Given the description of an element on the screen output the (x, y) to click on. 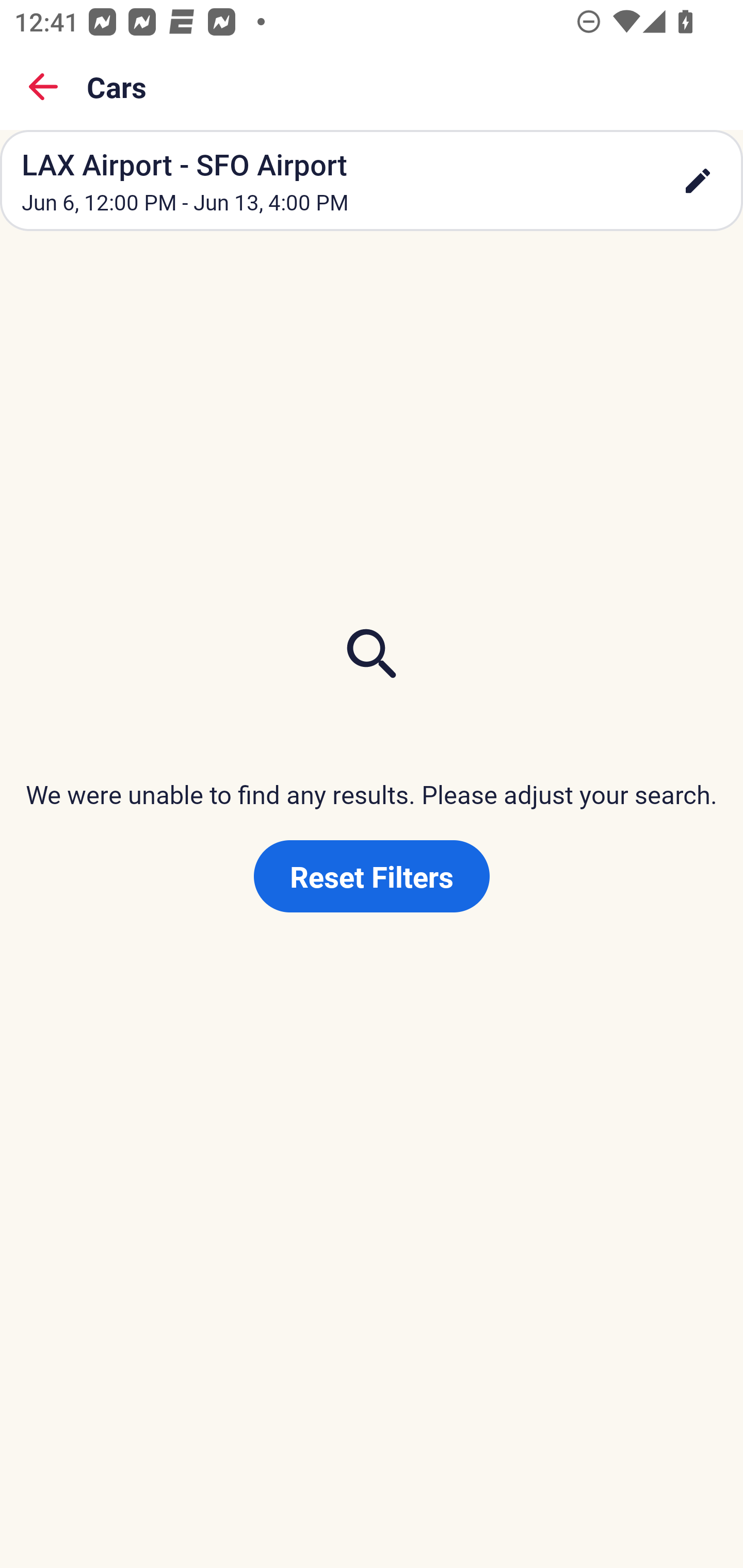
Back (43, 86)
edit (697, 180)
Reset Filters (371, 876)
